Given the description of an element on the screen output the (x, y) to click on. 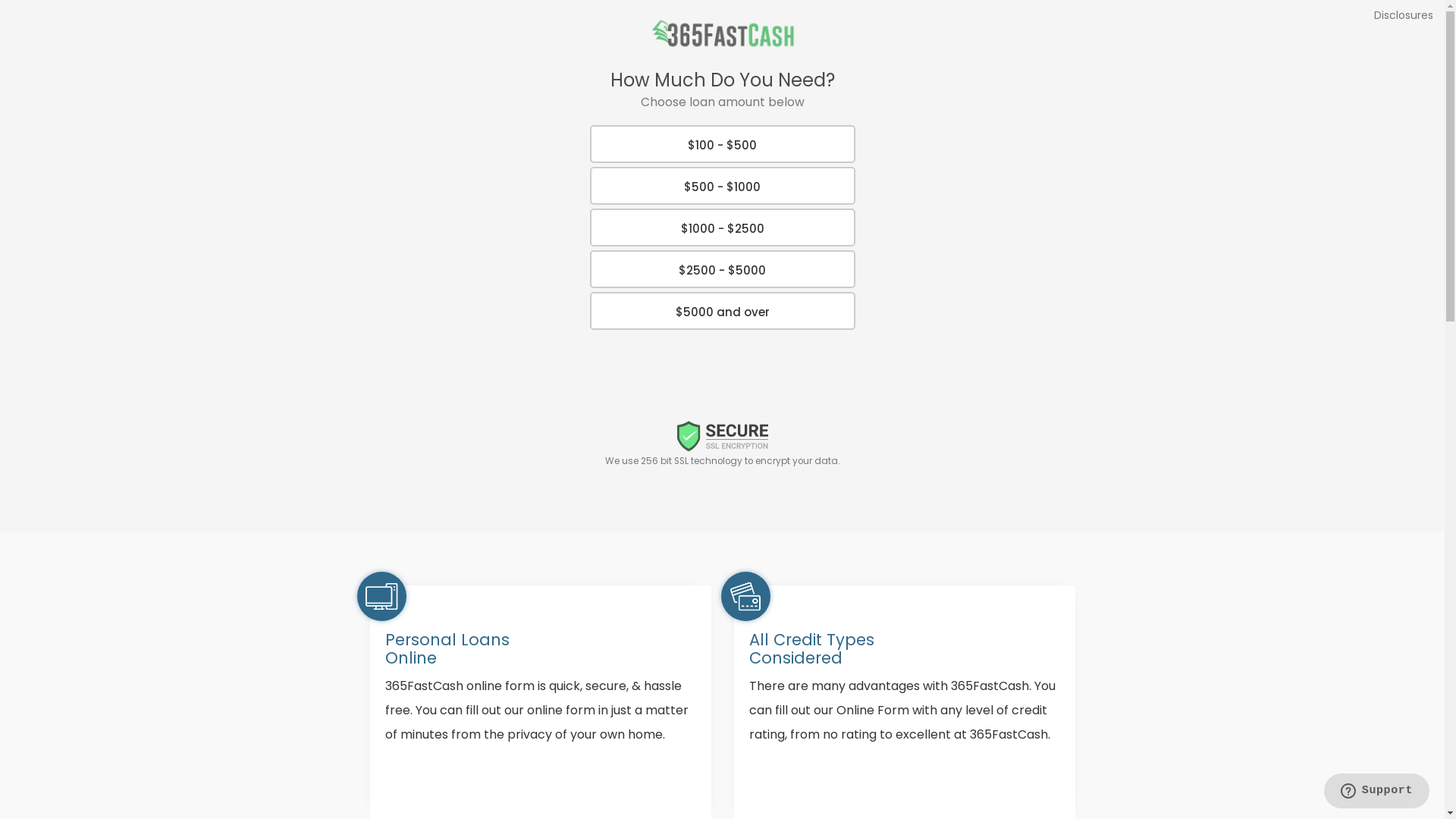
Disclosures Element type: text (1403, 15)
Opens a widget where you can find more information Element type: hover (1376, 792)
